Given the description of an element on the screen output the (x, y) to click on. 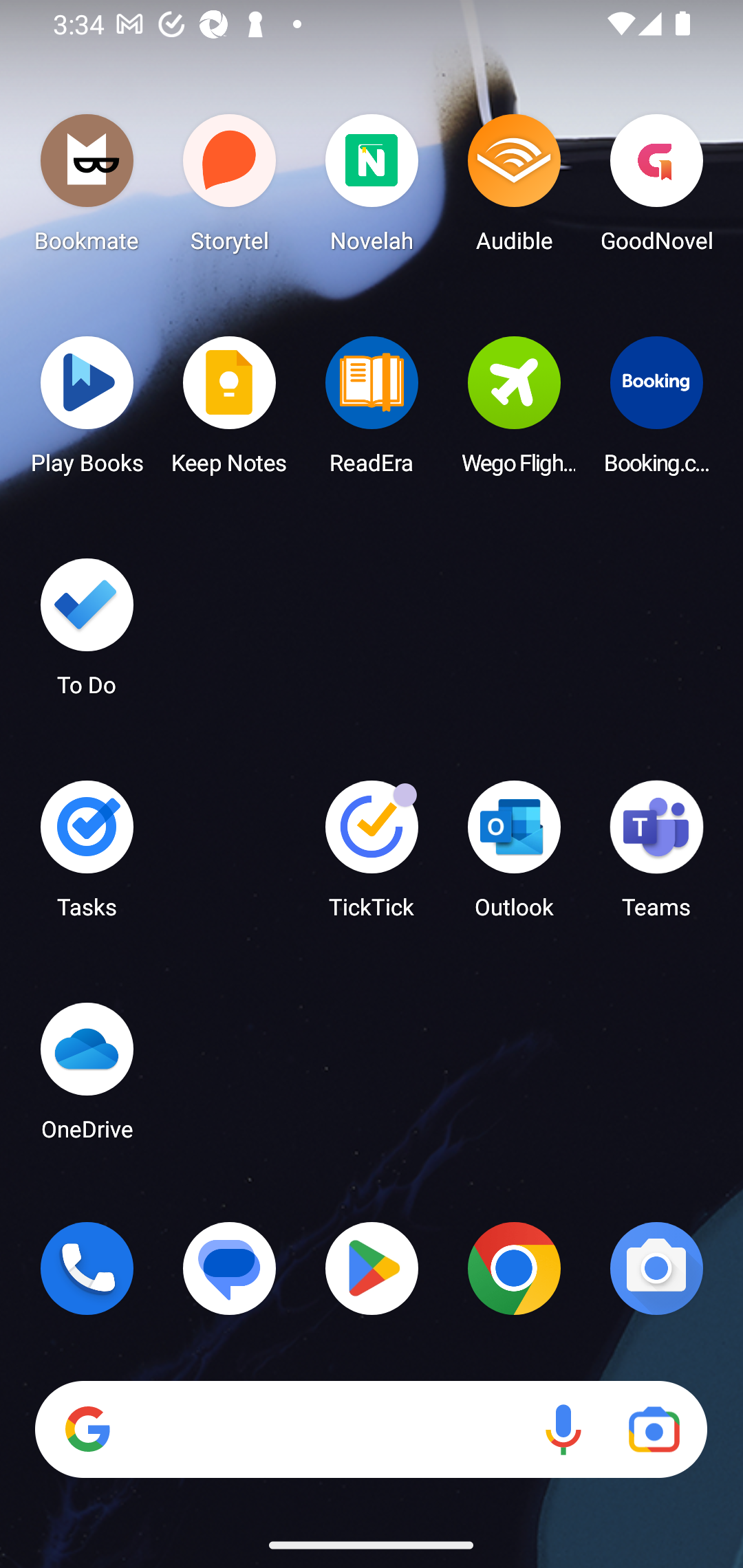
Bookmate (86, 188)
Storytel (229, 188)
Novelah (371, 188)
Audible (513, 188)
GoodNovel (656, 188)
Play Books (86, 410)
Keep Notes (229, 410)
ReadEra (371, 410)
Wego Flights & Hotels (513, 410)
Booking.com (656, 410)
To Do (86, 633)
Tasks (86, 854)
TickTick TickTick has 3 notifications (371, 854)
Outlook (513, 854)
Teams (656, 854)
OneDrive (86, 1076)
Phone (86, 1268)
Messages (229, 1268)
Play Store (371, 1268)
Chrome (513, 1268)
Camera (656, 1268)
Search Voice search Google Lens (370, 1429)
Voice search (562, 1429)
Google Lens (653, 1429)
